Given the description of an element on the screen output the (x, y) to click on. 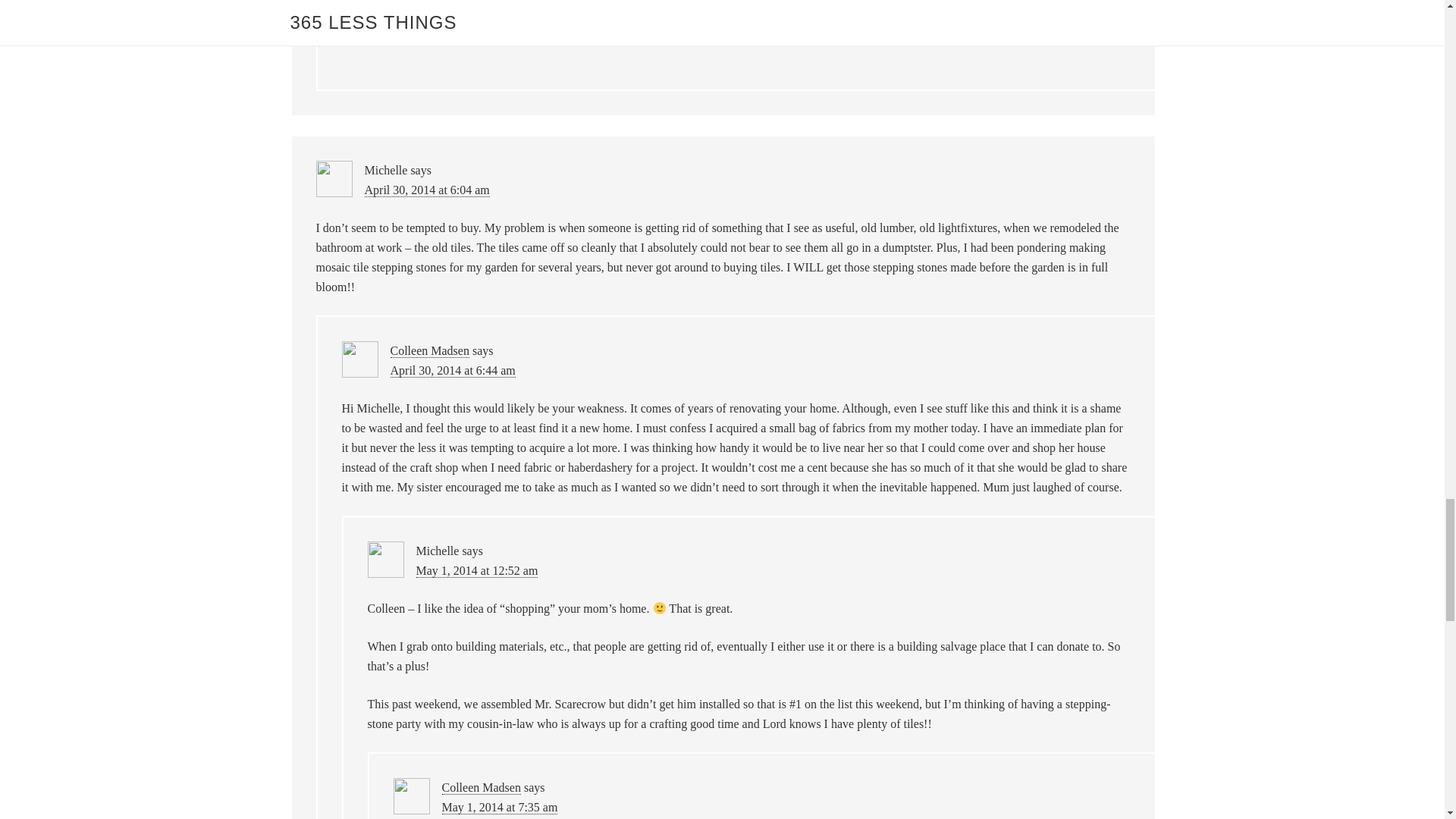
Colleen Madsen (480, 787)
April 30, 2014 at 2:25 am (452, 2)
April 30, 2014 at 6:44 am (452, 370)
April 30, 2014 at 6:04 am (426, 190)
Colleen Madsen (429, 350)
May 1, 2014 at 12:52 am (475, 571)
